Given the description of an element on the screen output the (x, y) to click on. 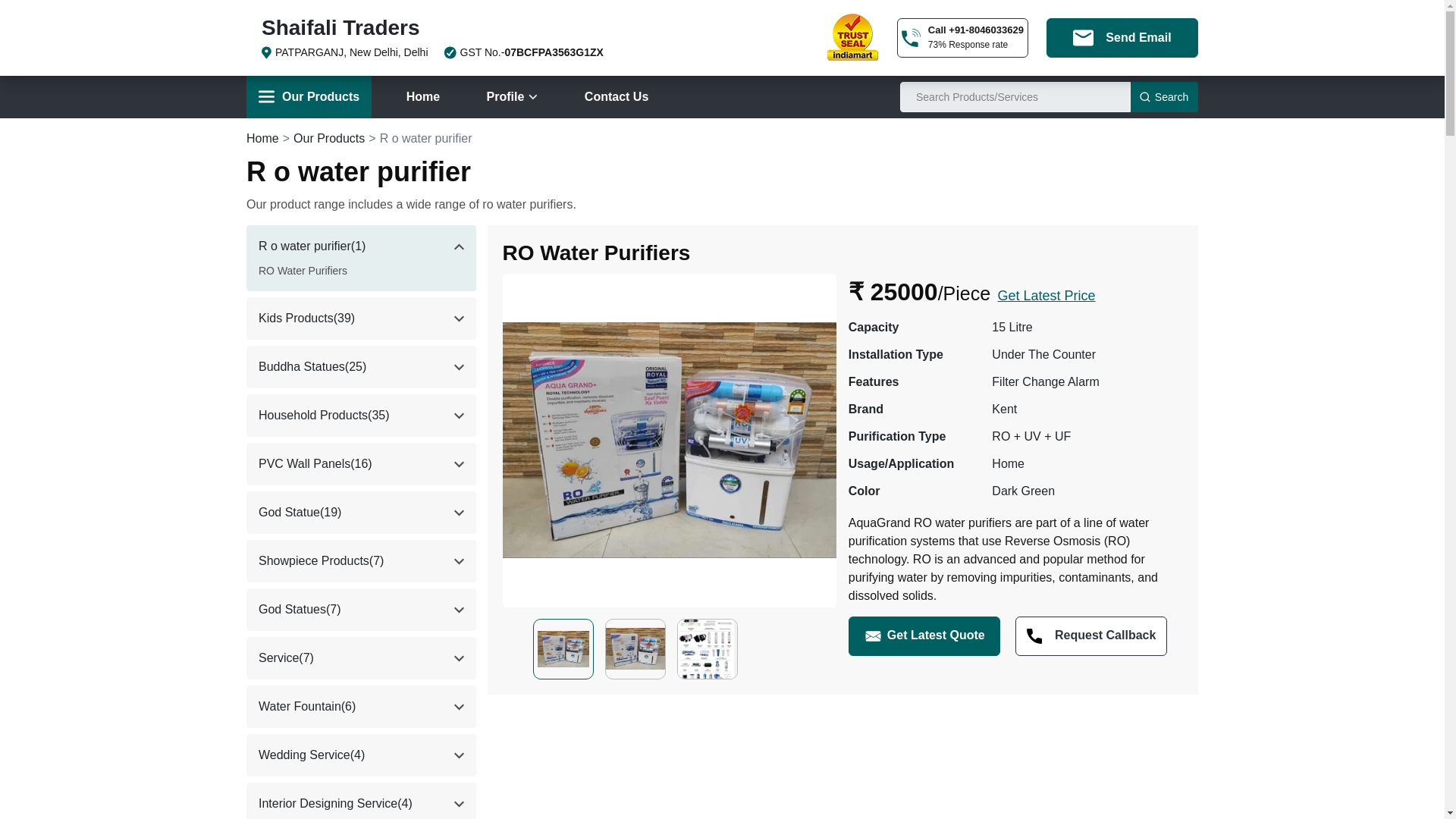
Profile (512, 96)
Our Products (308, 96)
Send Email (1122, 37)
Contact Us (616, 96)
Home (422, 96)
